Given the description of an element on the screen output the (x, y) to click on. 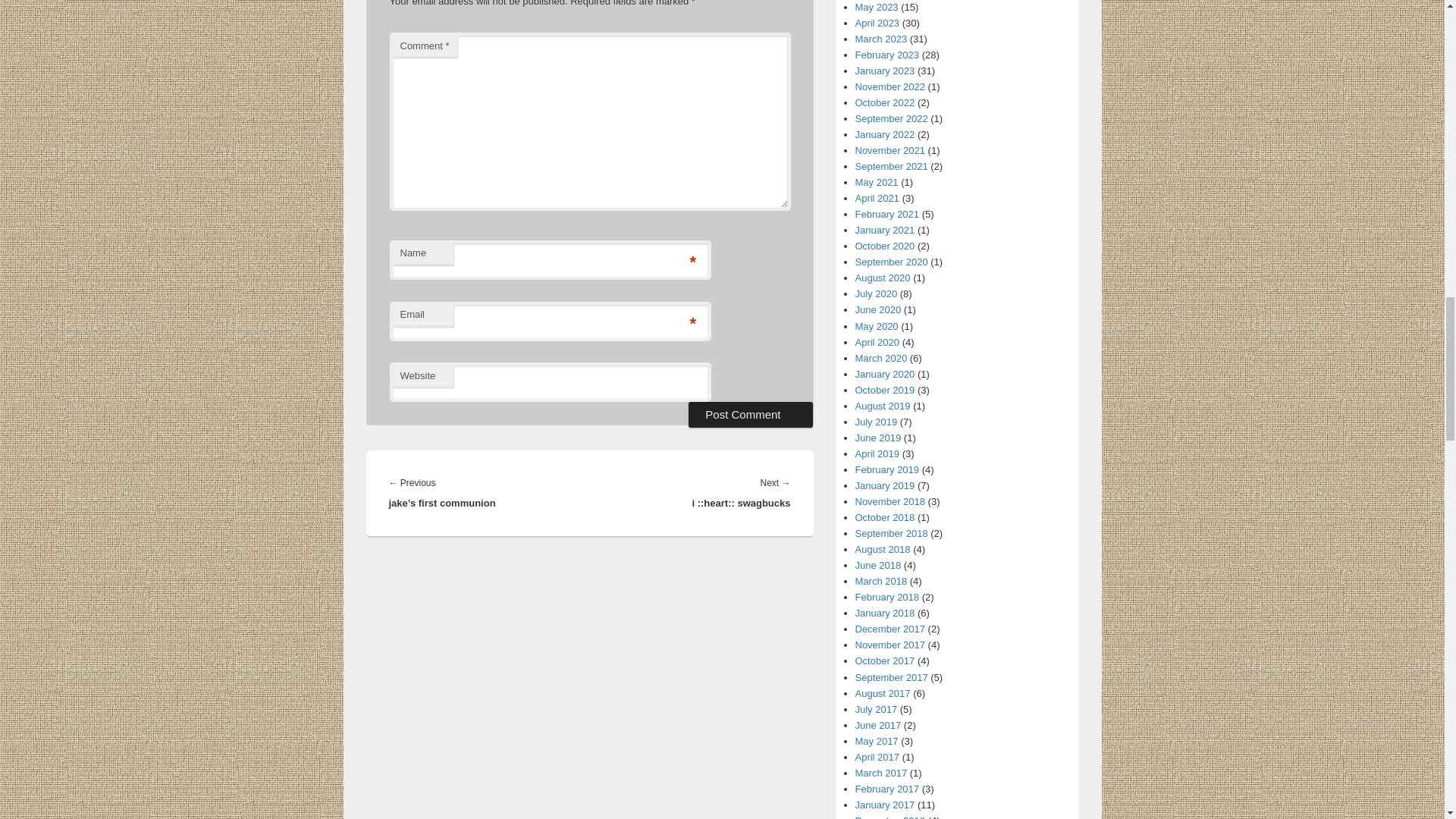
Post Comment (750, 414)
Post Comment (750, 414)
